Given the description of an element on the screen output the (x, y) to click on. 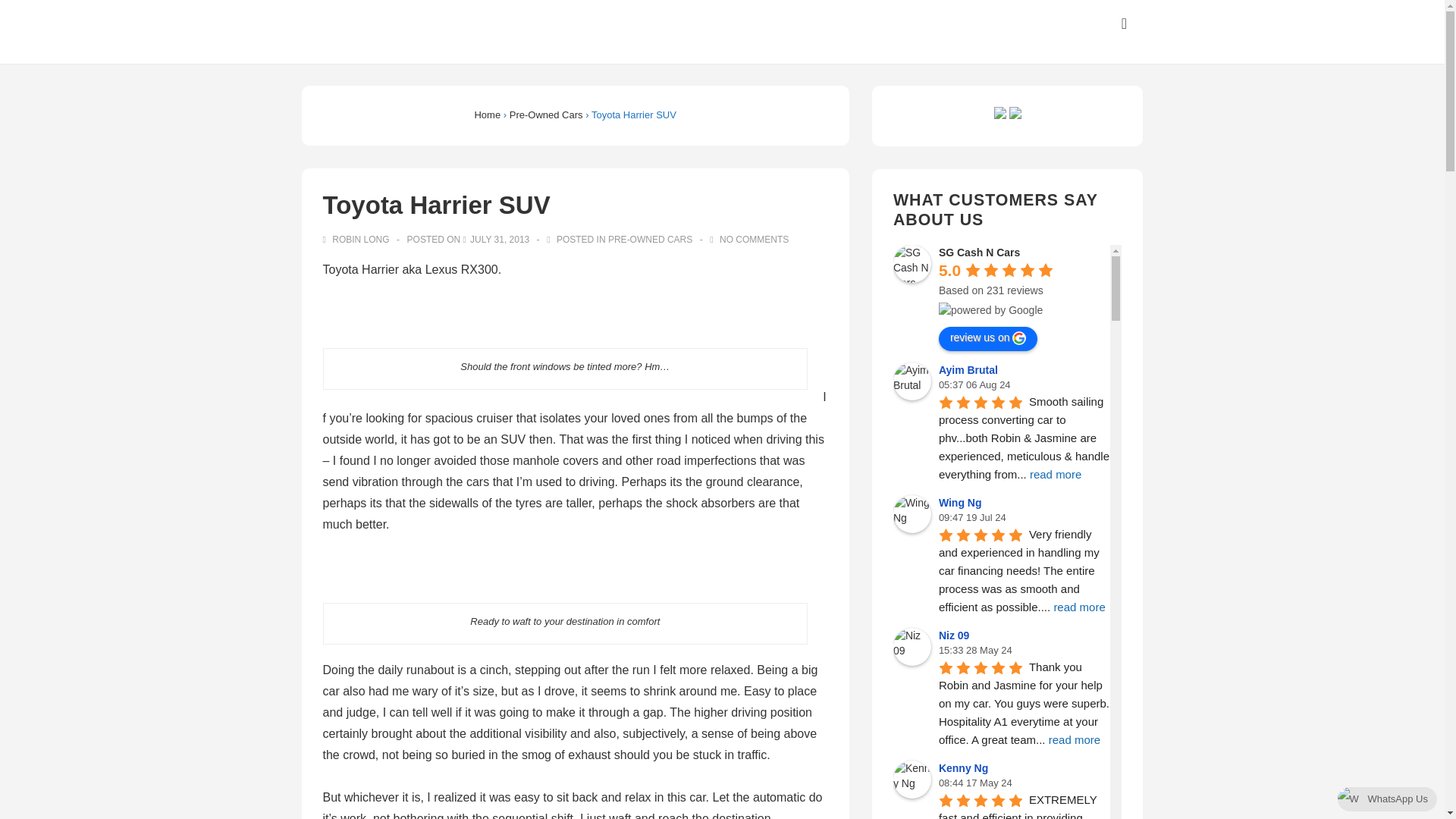
Home (487, 114)
NO COMMENTS (754, 239)
View all posts by Robin Long (357, 239)
Pre-Owned Cars (546, 114)
Toyota Harrier SUV (499, 239)
Ayim Brutal (912, 381)
JULY 31, 2013 (499, 239)
MENU (1123, 23)
powered by Google (990, 309)
Kenny Ng (912, 779)
